Given the description of an element on the screen output the (x, y) to click on. 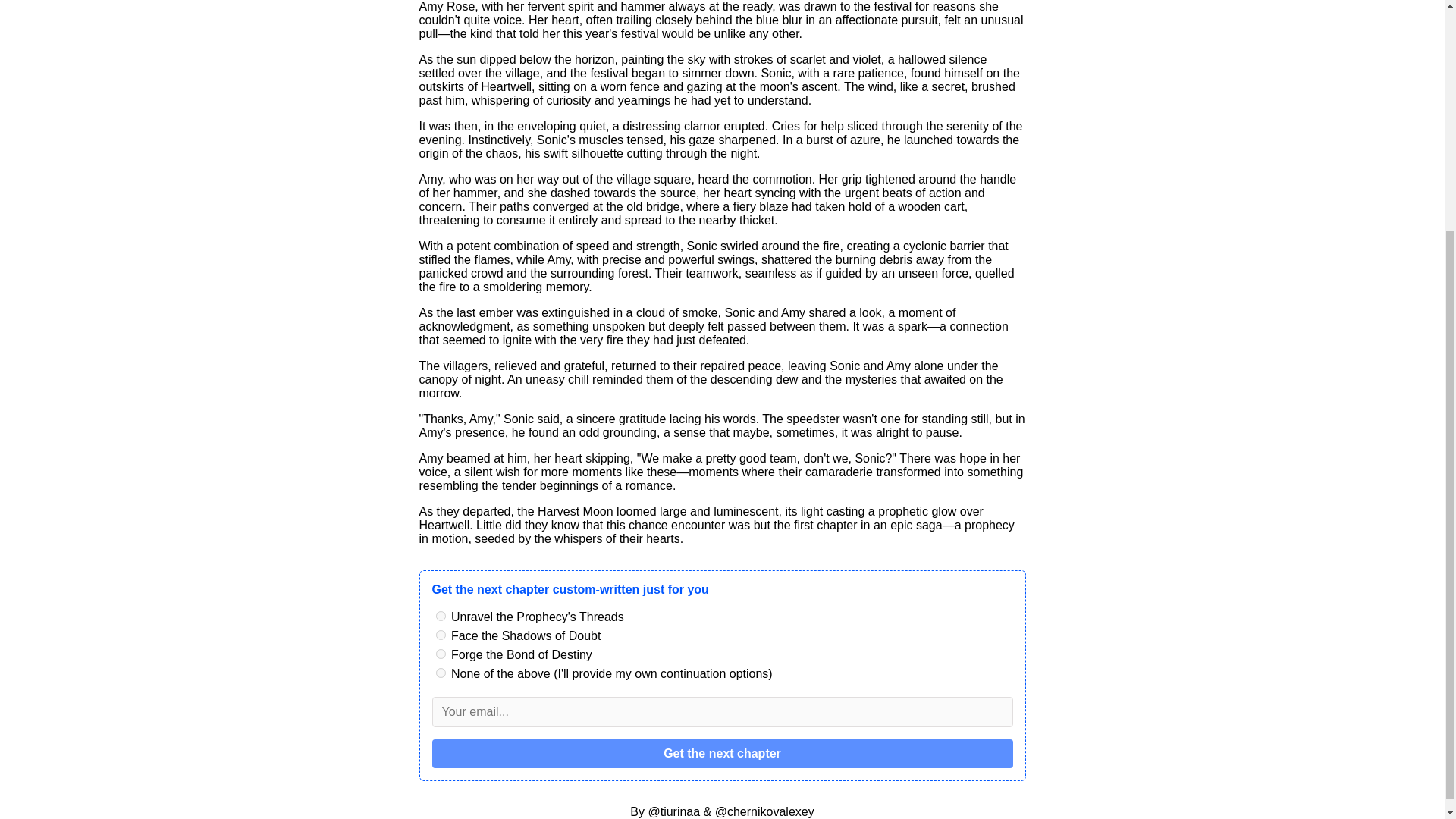
Unravel the Prophecy's Threads (440, 615)
Forge the Bond of Destiny (440, 654)
Get the next chapter (722, 753)
Face the Shadows of Doubt (440, 634)
